Given the description of an element on the screen output the (x, y) to click on. 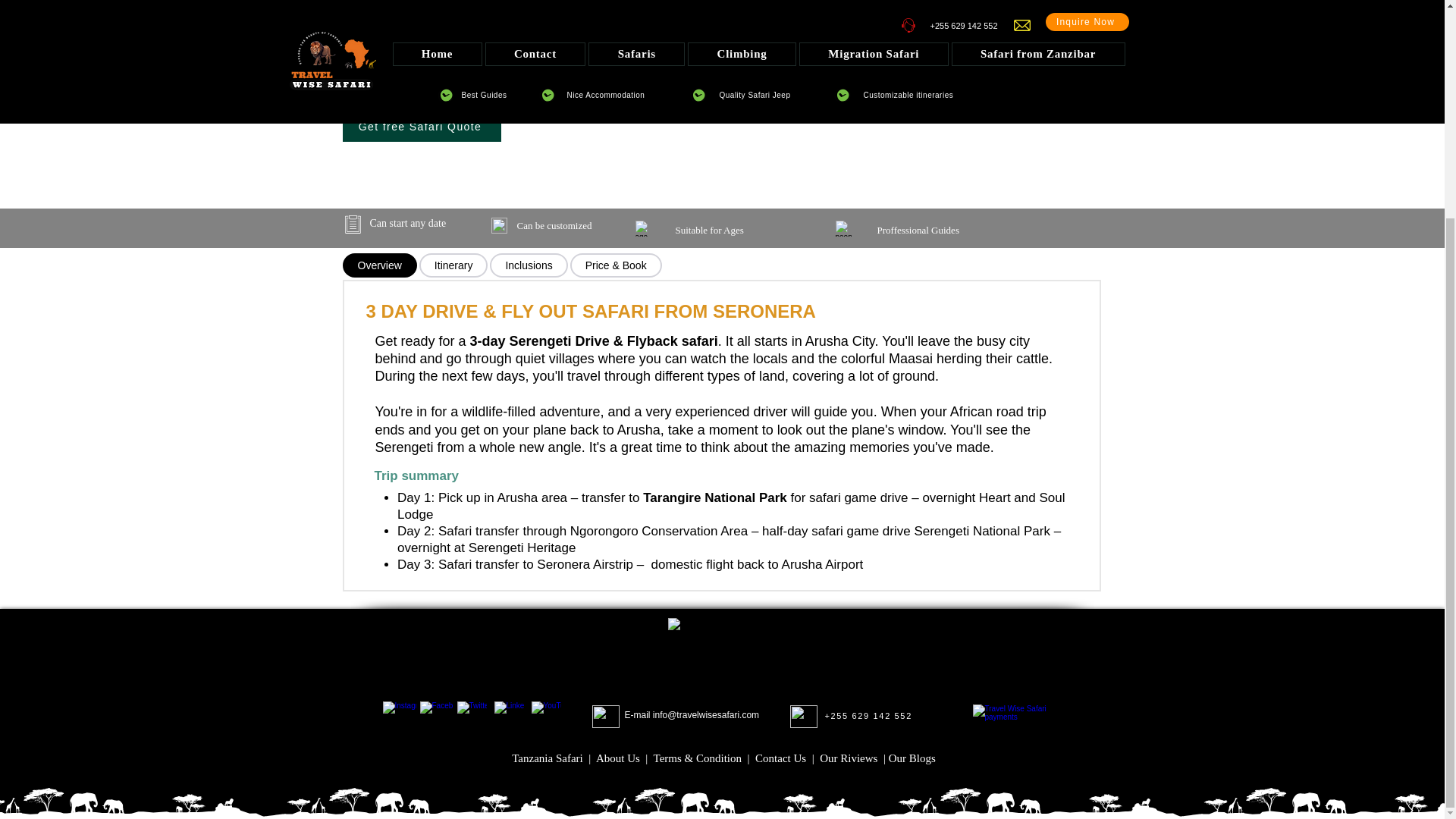
customization.png (499, 225)
customization.png (642, 228)
customization.png (843, 228)
